Given the description of an element on the screen output the (x, y) to click on. 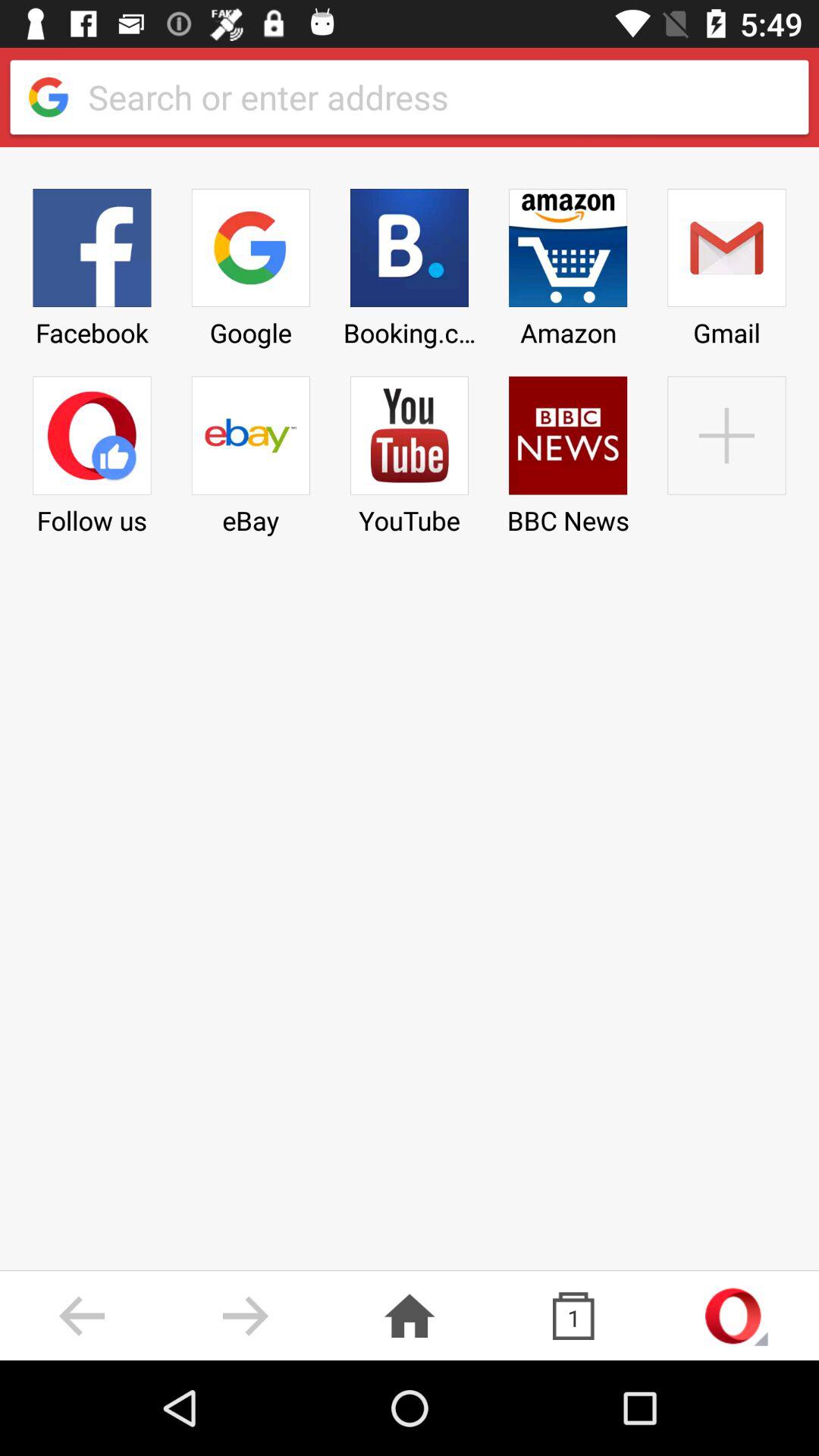
turn off follow us item (92, 450)
